Given the description of an element on the screen output the (x, y) to click on. 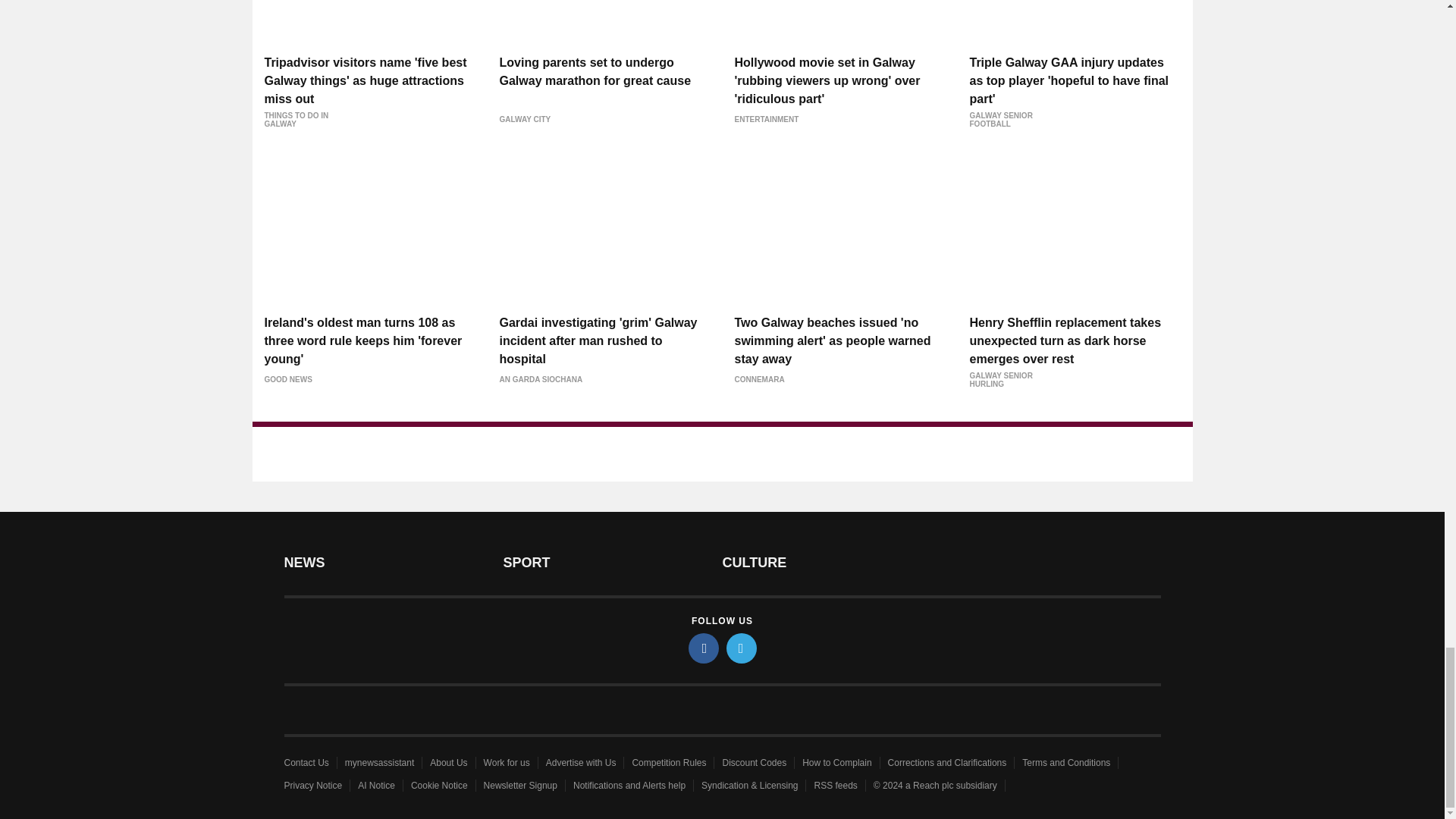
facebook (703, 648)
twitter (741, 648)
